Given the description of an element on the screen output the (x, y) to click on. 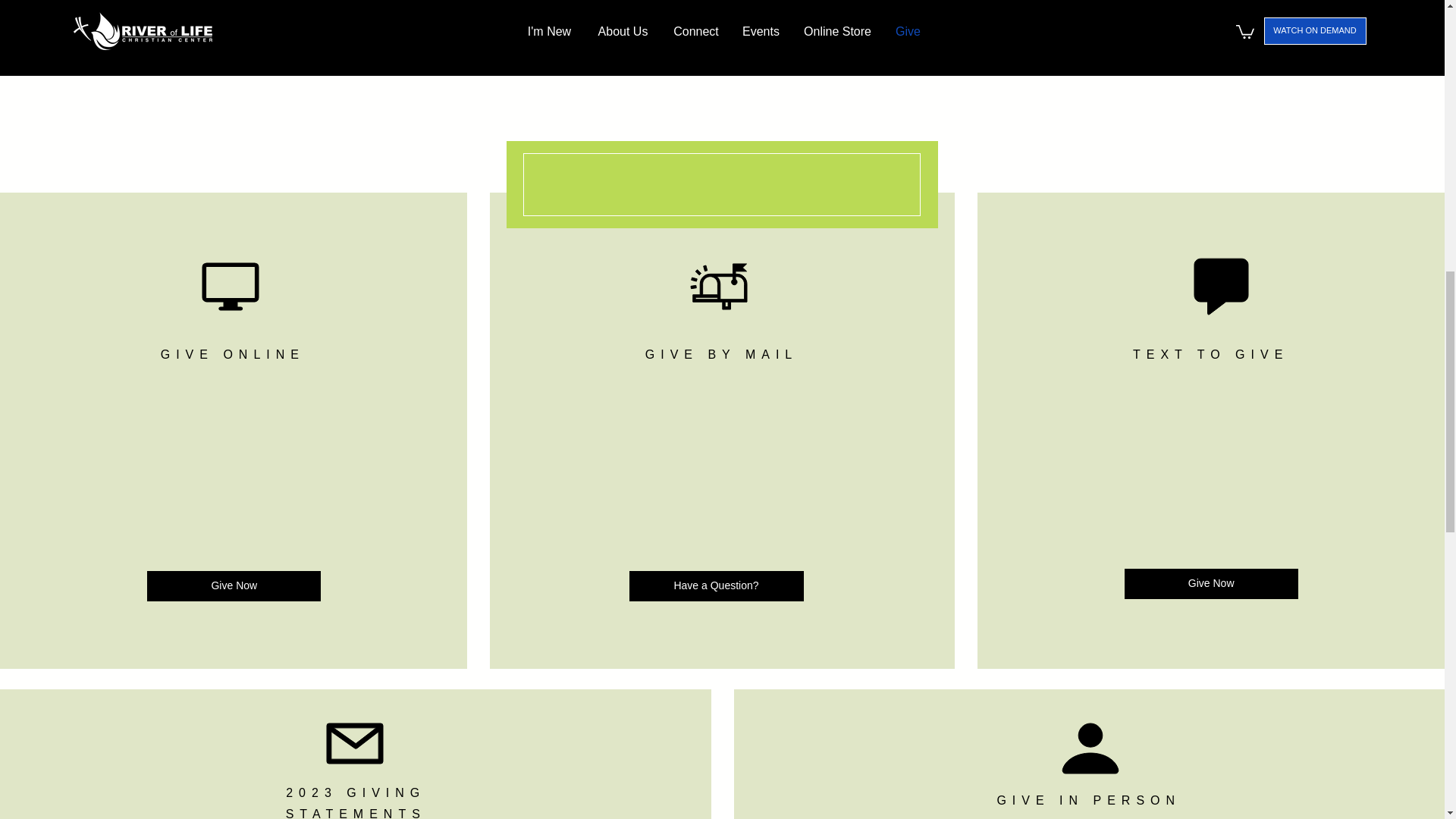
Have a Question? (715, 585)
Give Now (233, 585)
Give Now (1211, 583)
